Given the description of an element on the screen output the (x, y) to click on. 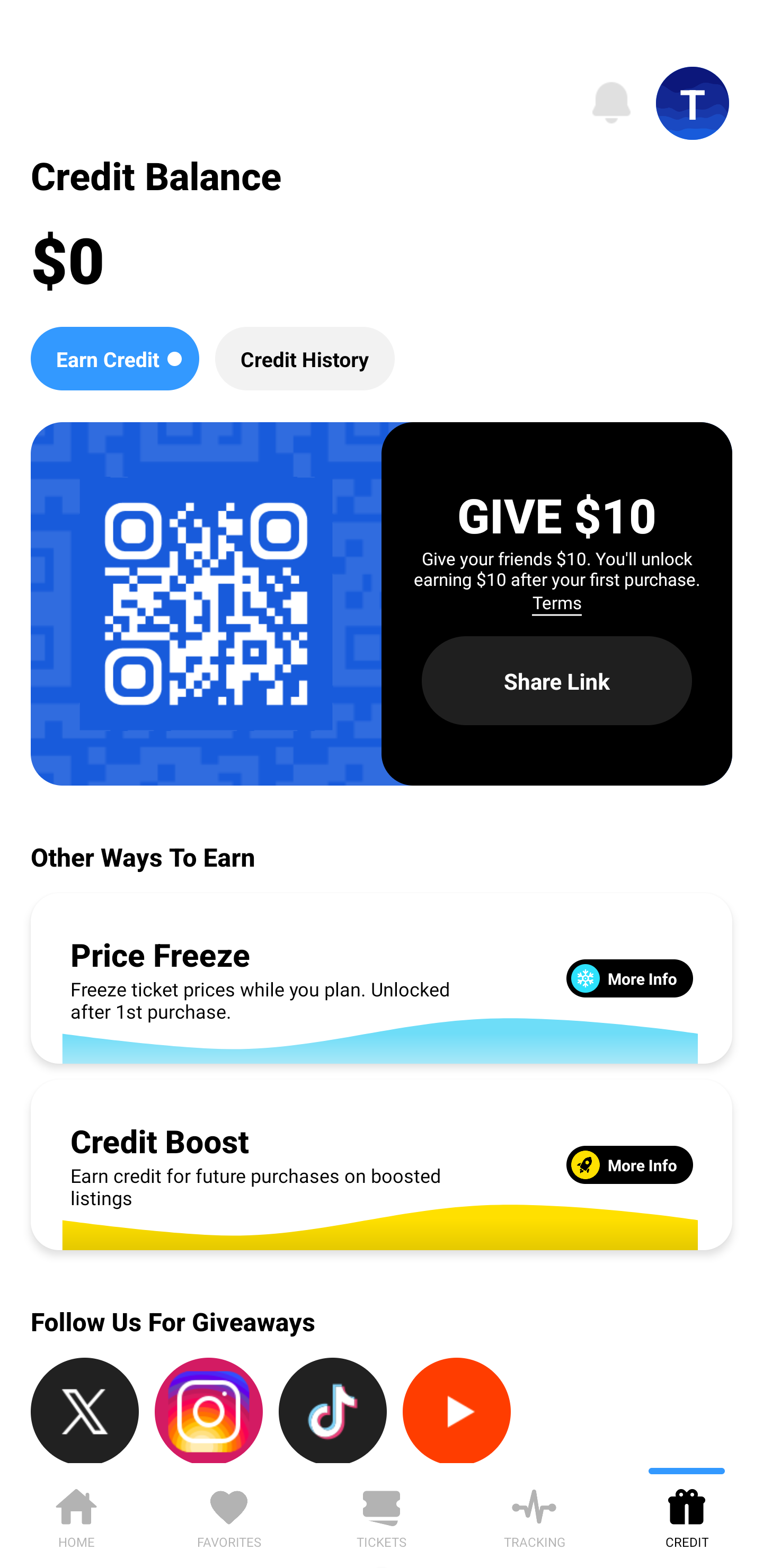
T (692, 103)
Earn Credit (114, 358)
Credit History (304, 358)
Share Link (556, 680)
More Info (629, 978)
More Info (629, 1164)
X (84, 1409)
Instagram (208, 1409)
TikTok (332, 1409)
YouTube (456, 1409)
HOME (76, 1515)
FAVORITES (228, 1515)
TICKETS (381, 1515)
TRACKING (533, 1515)
CREDIT (686, 1515)
